Given the description of an element on the screen output the (x, y) to click on. 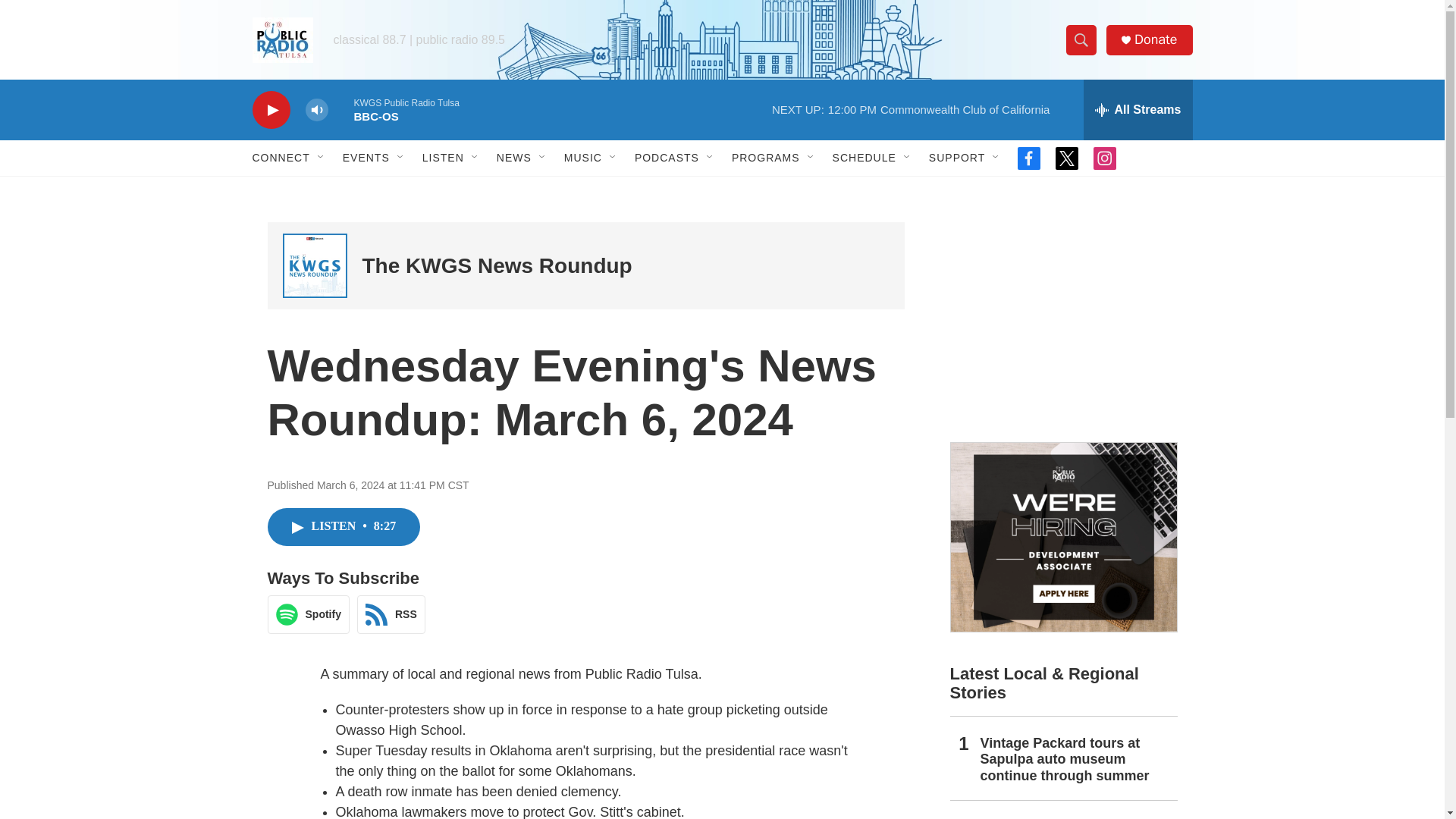
3rd party ad content (1062, 316)
